Given the description of an element on the screen output the (x, y) to click on. 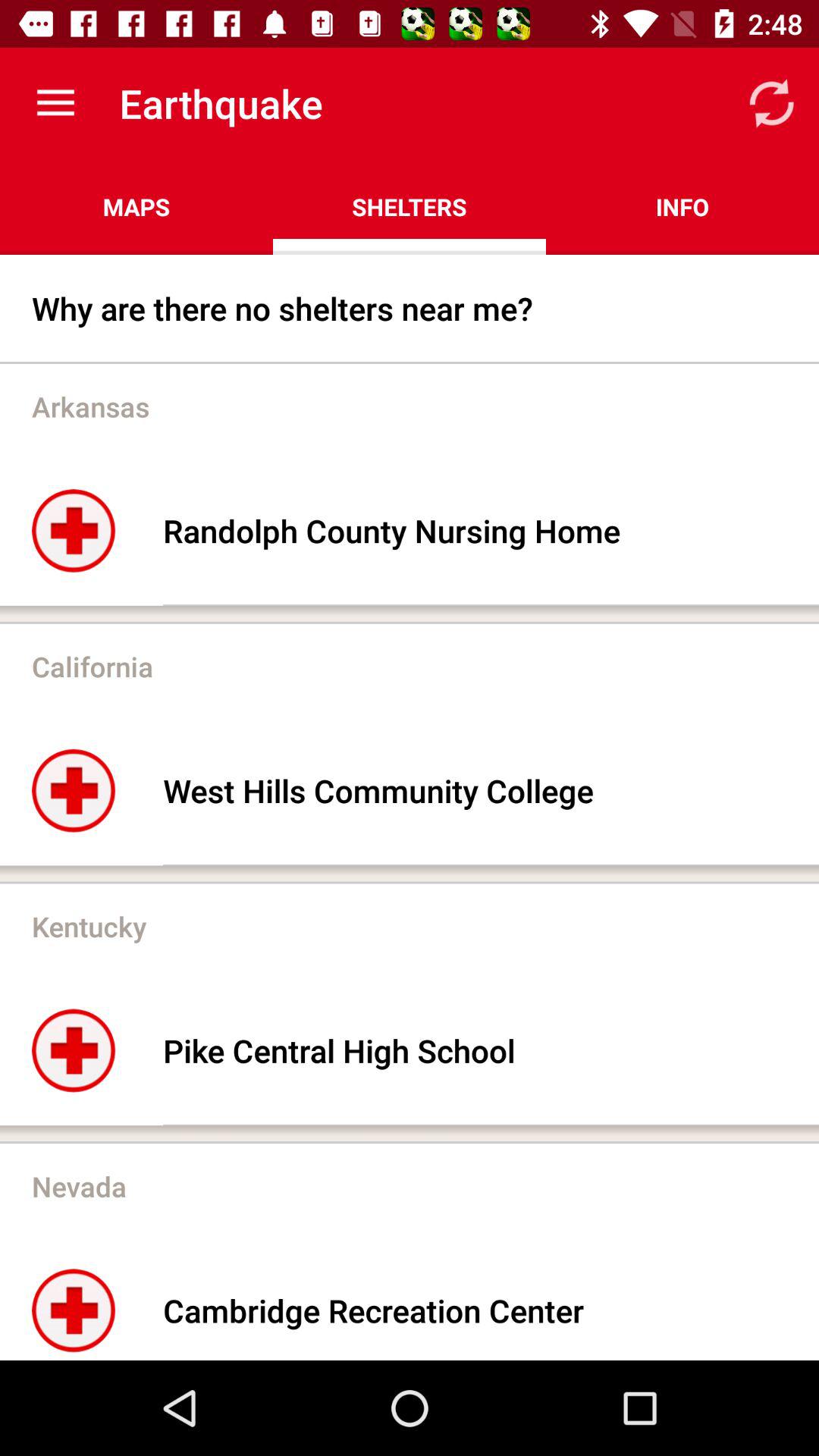
turn off the icon next to the earthquake icon (55, 103)
